Given the description of an element on the screen output the (x, y) to click on. 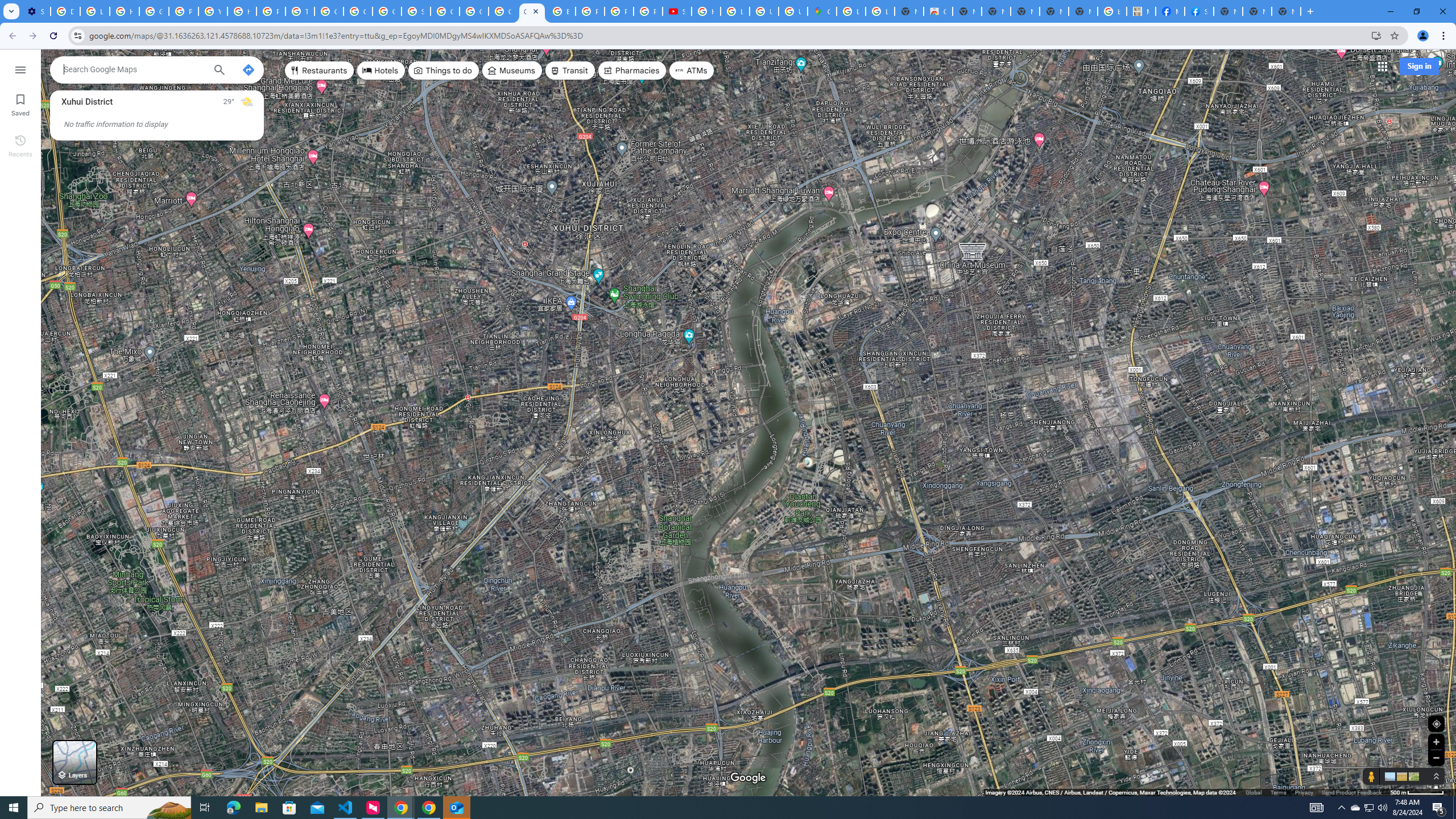
YouTube (212, 11)
Transit (569, 70)
Subscriptions - YouTube (677, 11)
Send Product Feedback (1351, 792)
Sign Up for Facebook (1198, 11)
Miley Cyrus | Facebook (1169, 11)
Privacy Help Center - Policies Help (183, 11)
